Given the description of an element on the screen output the (x, y) to click on. 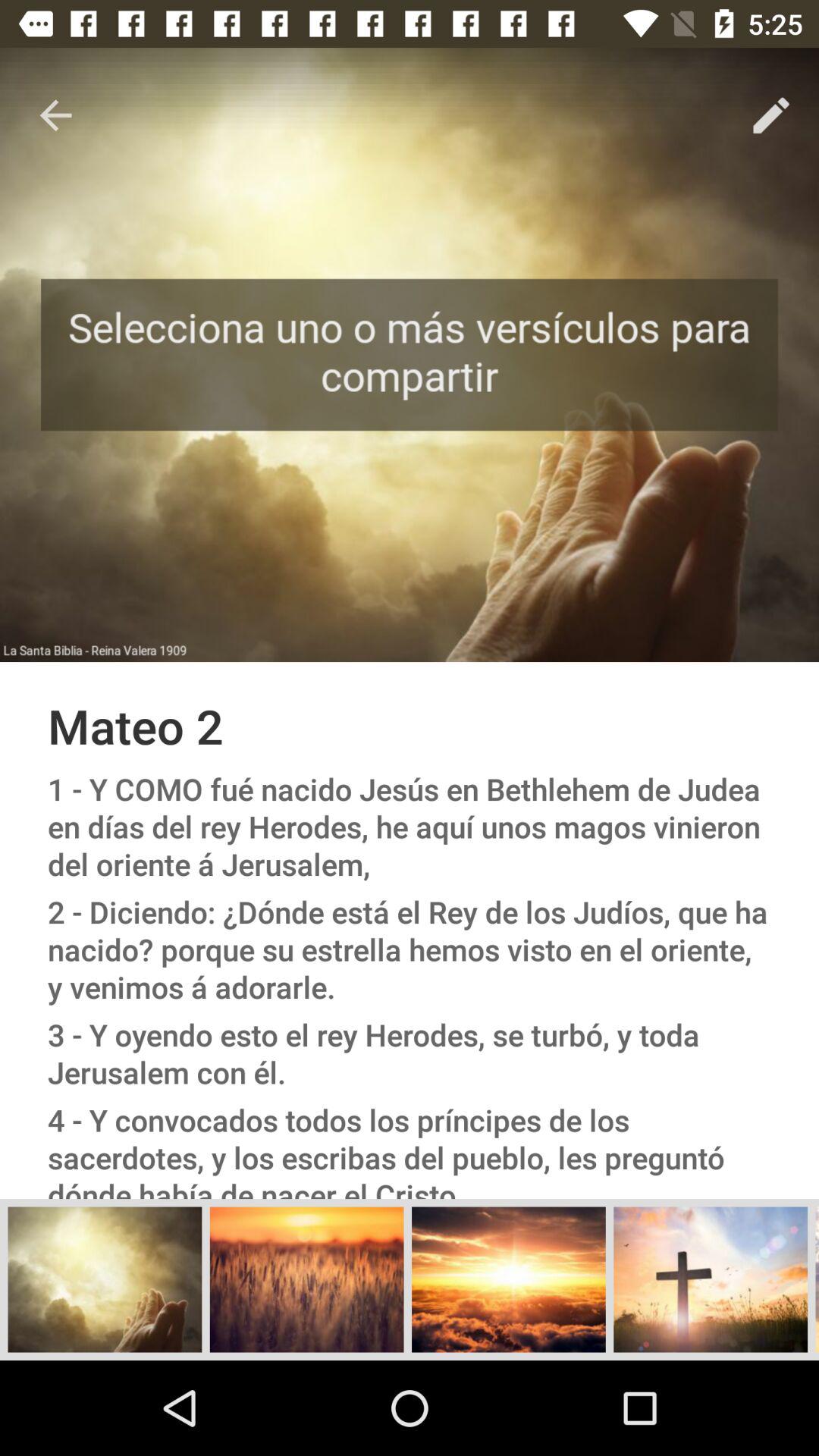
choose icon below the mateo 2 item (409, 826)
